Given the description of an element on the screen output the (x, y) to click on. 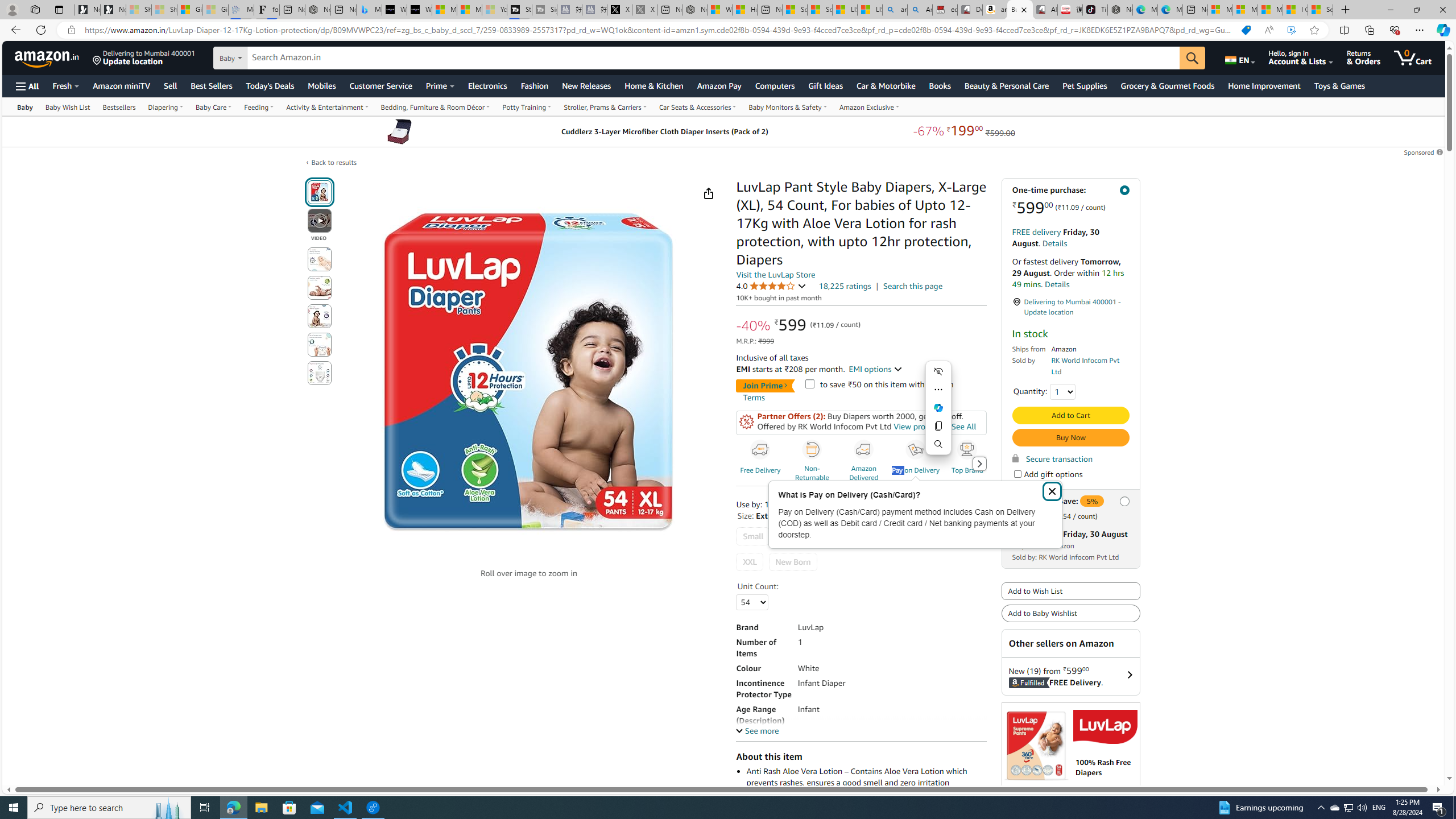
Streaming Coverage | T3 (519, 9)
TikTok (1094, 9)
Microsoft Bing Travel - Shangri-La Hotel Bangkok (368, 9)
Mini menu on text selection (938, 407)
